Given the description of an element on the screen output the (x, y) to click on. 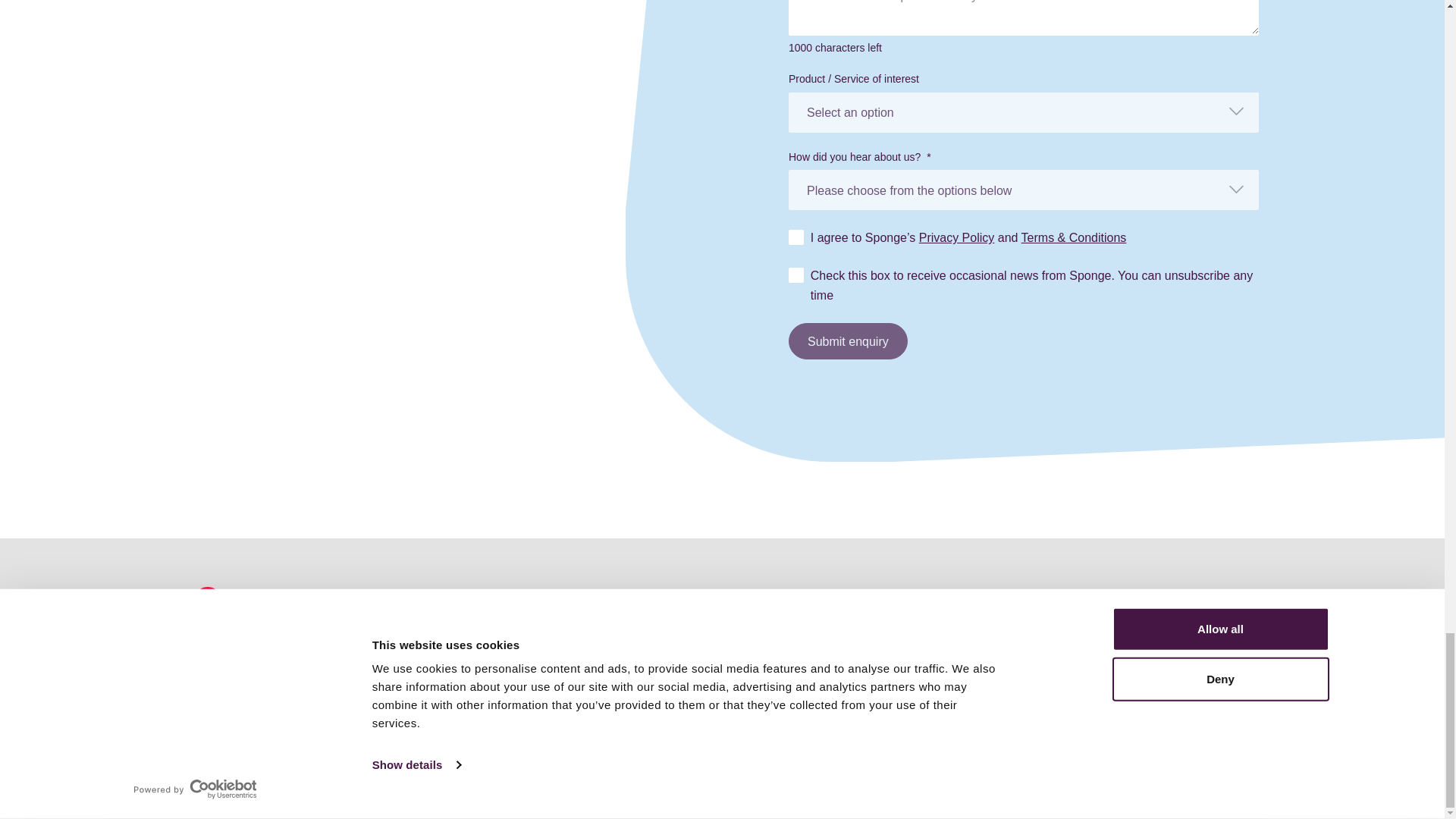
1 (805, 275)
1 (805, 237)
